Given the description of an element on the screen output the (x, y) to click on. 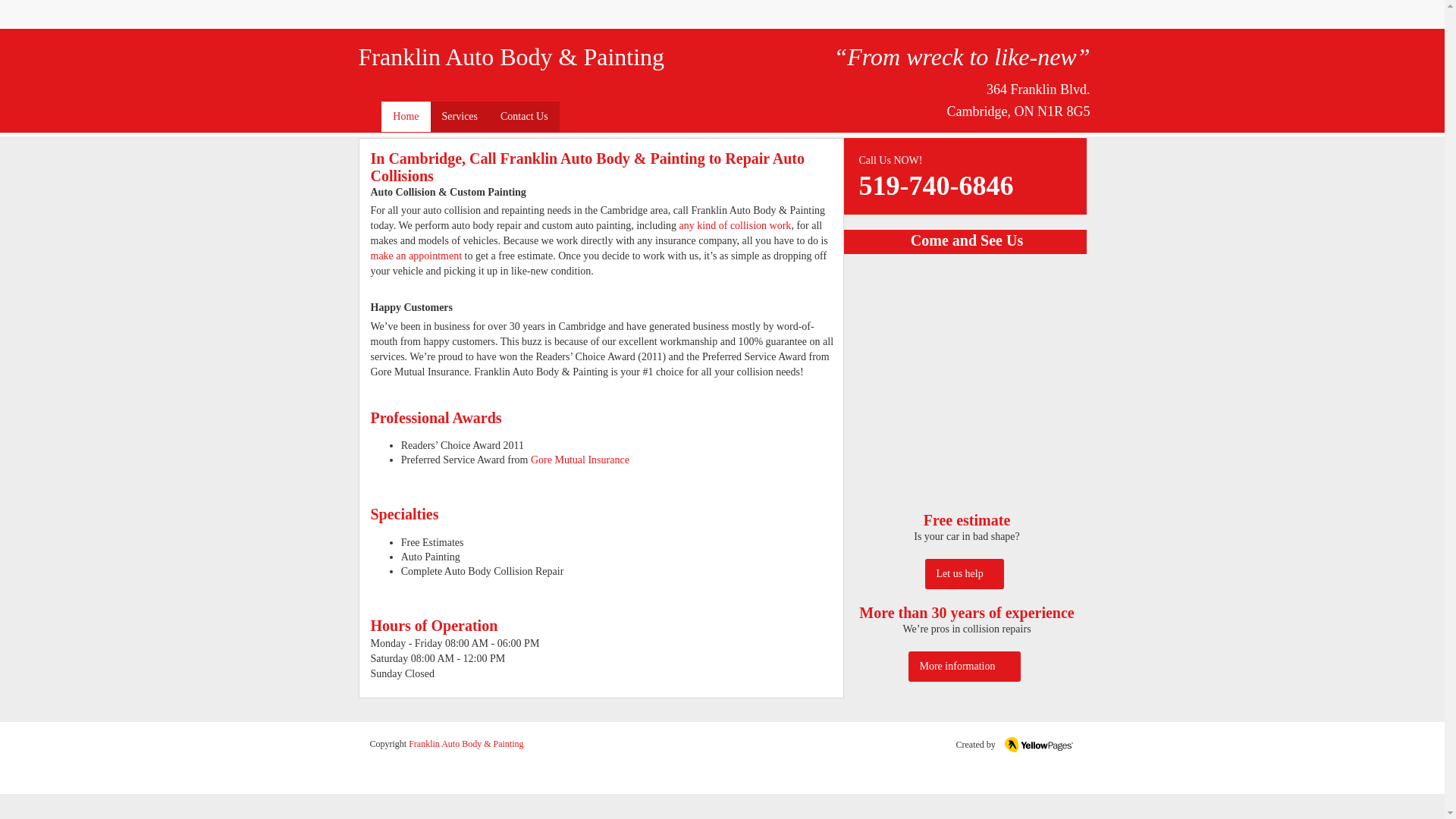
any kind of collision work (735, 225)
More information (964, 666)
Let us help (964, 573)
make an appointment (415, 256)
519-740-6846 (936, 192)
Services (459, 116)
Gore Mutual Insurance (579, 460)
Home (405, 116)
Contact Us (524, 116)
